Given the description of an element on the screen output the (x, y) to click on. 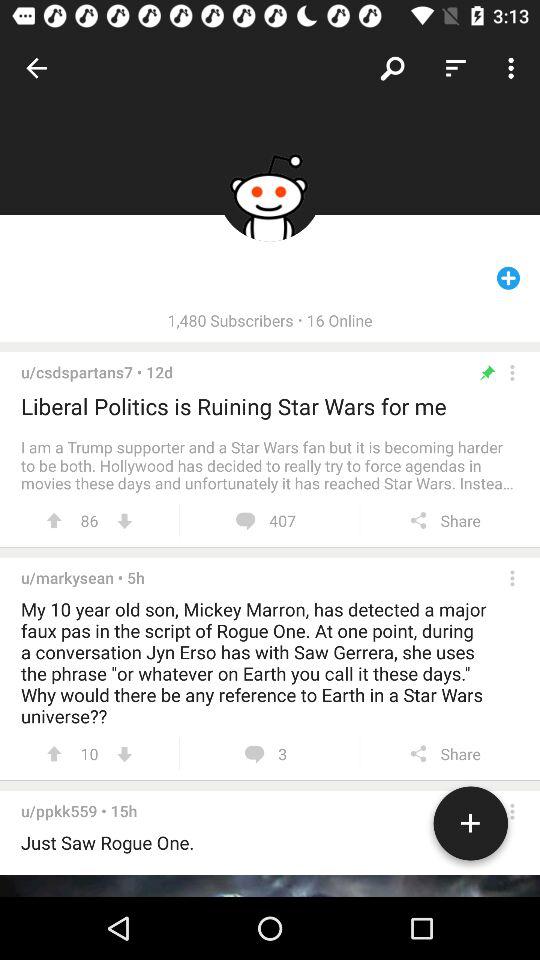
more options (512, 811)
